Given the description of an element on the screen output the (x, y) to click on. 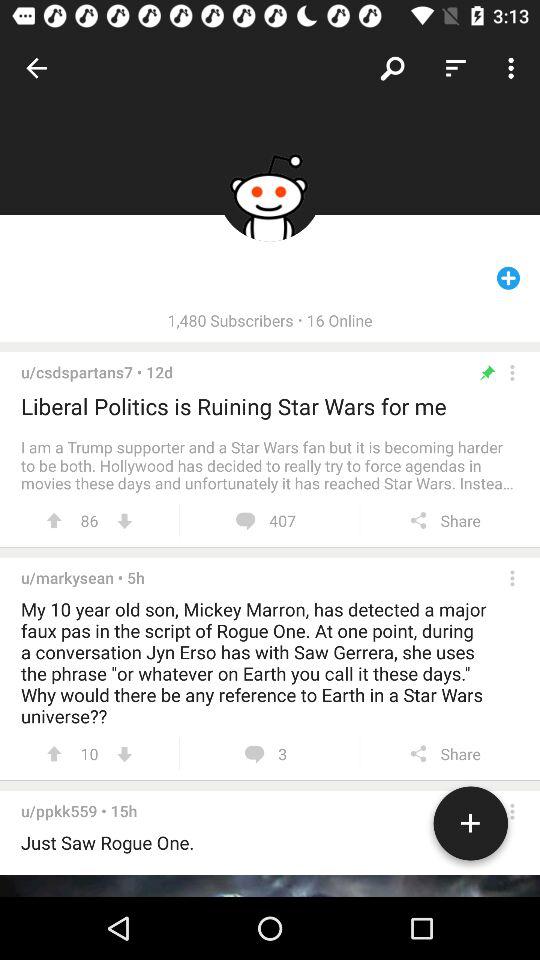
more options (512, 811)
